Given the description of an element on the screen output the (x, y) to click on. 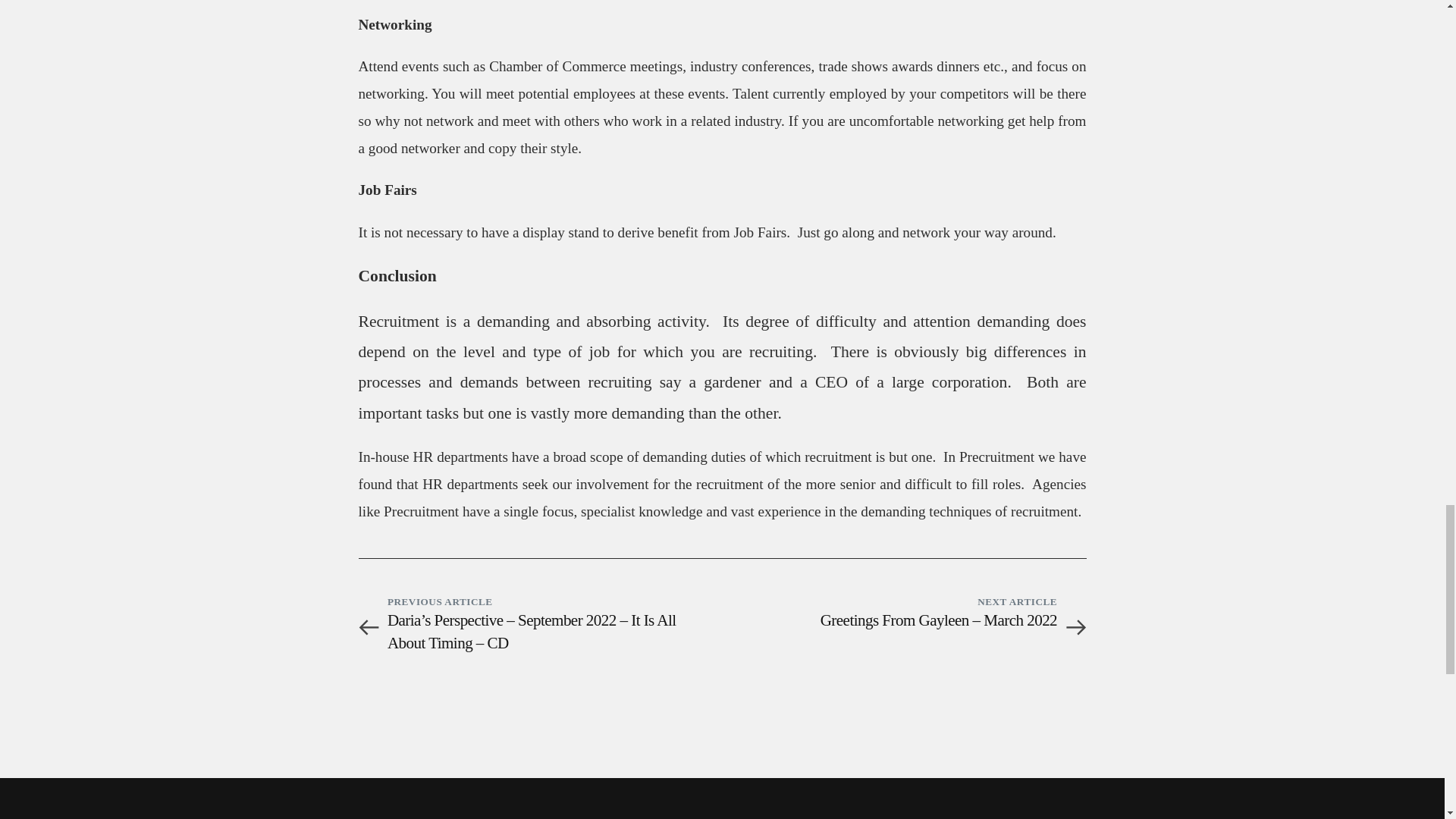
Greetings from Gayleen (794, 668)
About us (216, 645)
Value added services (601, 691)
Our team (216, 668)
WDA (336, 795)
Submit your resume (408, 668)
Exceptional candidates (794, 714)
Interview techniques (408, 714)
Register a job order (601, 668)
Employee portal (216, 714)
Find a job (408, 645)
Hire talent (601, 645)
Resume preparation (408, 691)
Jobs at Precruitment (216, 691)
Previews (794, 645)
